Given the description of an element on the screen output the (x, y) to click on. 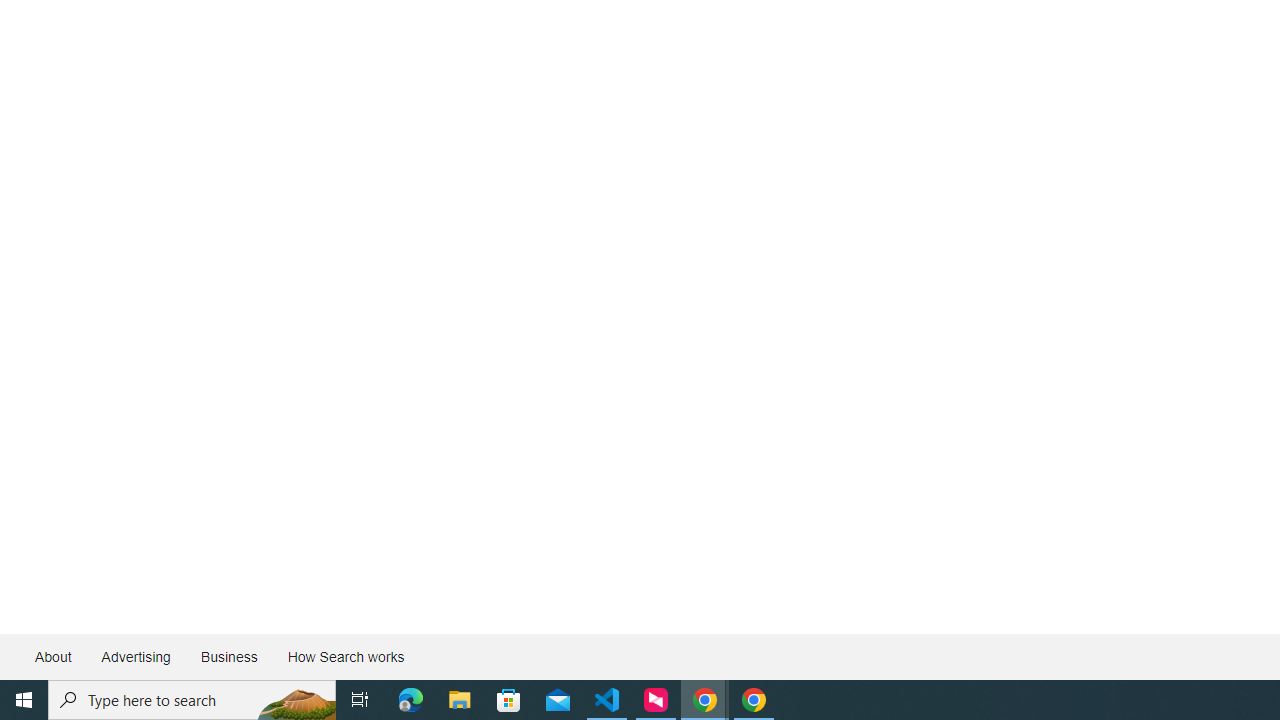
Advertising (135, 656)
How Search works (345, 656)
About (53, 656)
Business (228, 656)
